Given the description of an element on the screen output the (x, y) to click on. 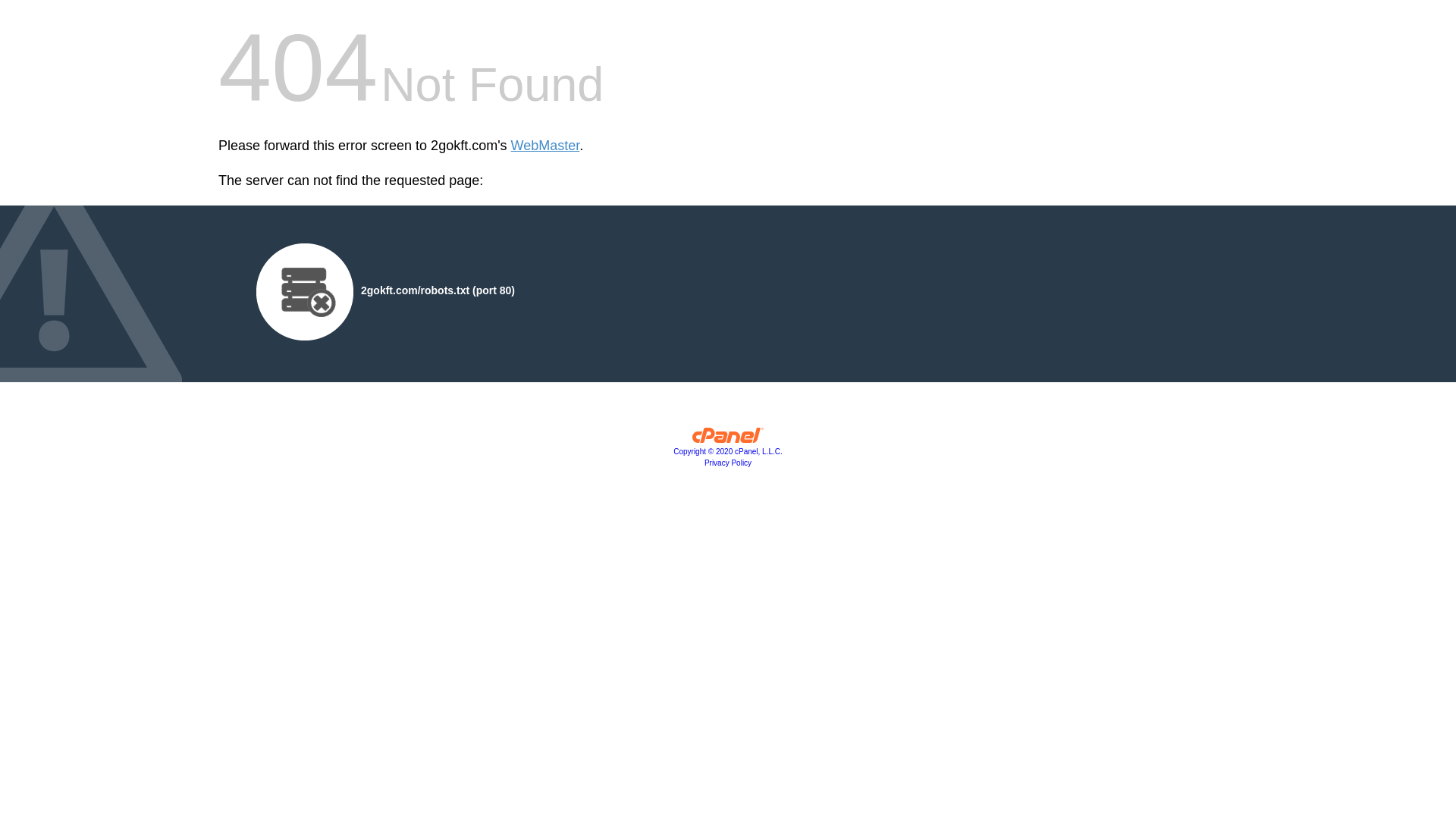
cPanel, Inc. Element type: hover (728, 439)
Privacy Policy Element type: text (727, 462)
WebMaster Element type: text (545, 145)
